Given the description of an element on the screen output the (x, y) to click on. 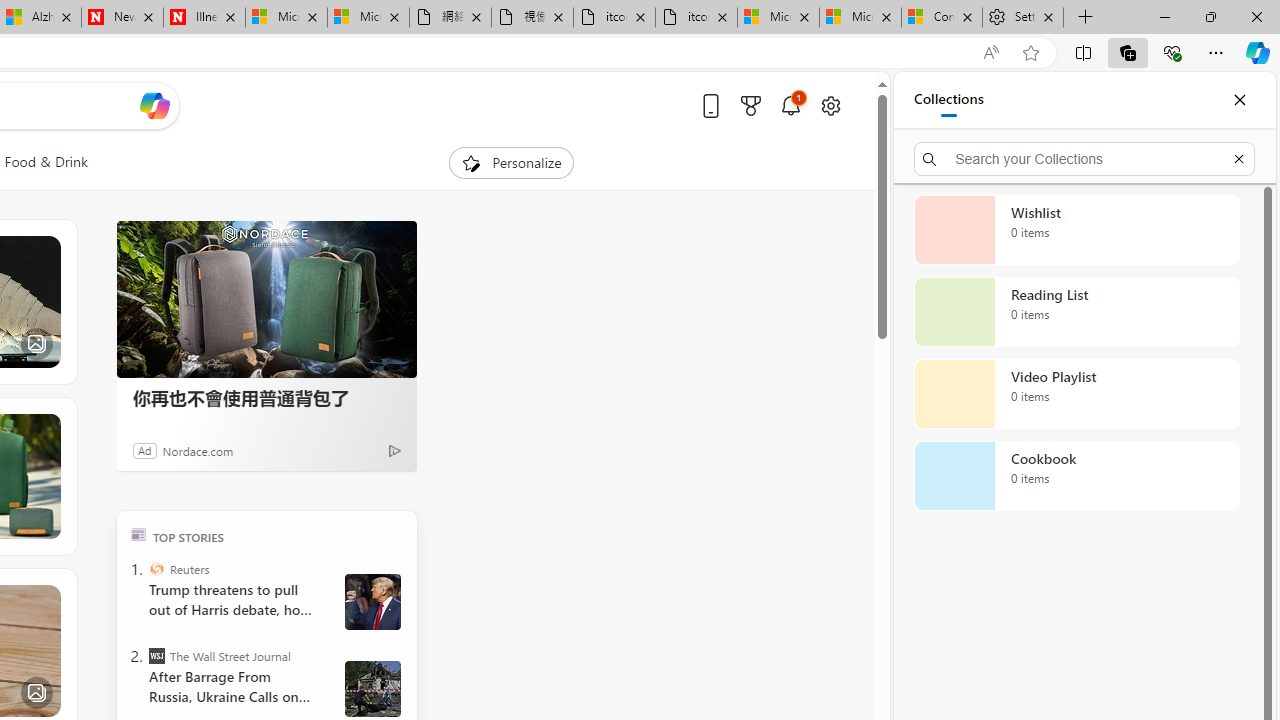
Video Playlist collection, 0 items (1076, 394)
Reuters (156, 568)
Exit search (1238, 158)
The Wall Street Journal (156, 655)
